Given the description of an element on the screen output the (x, y) to click on. 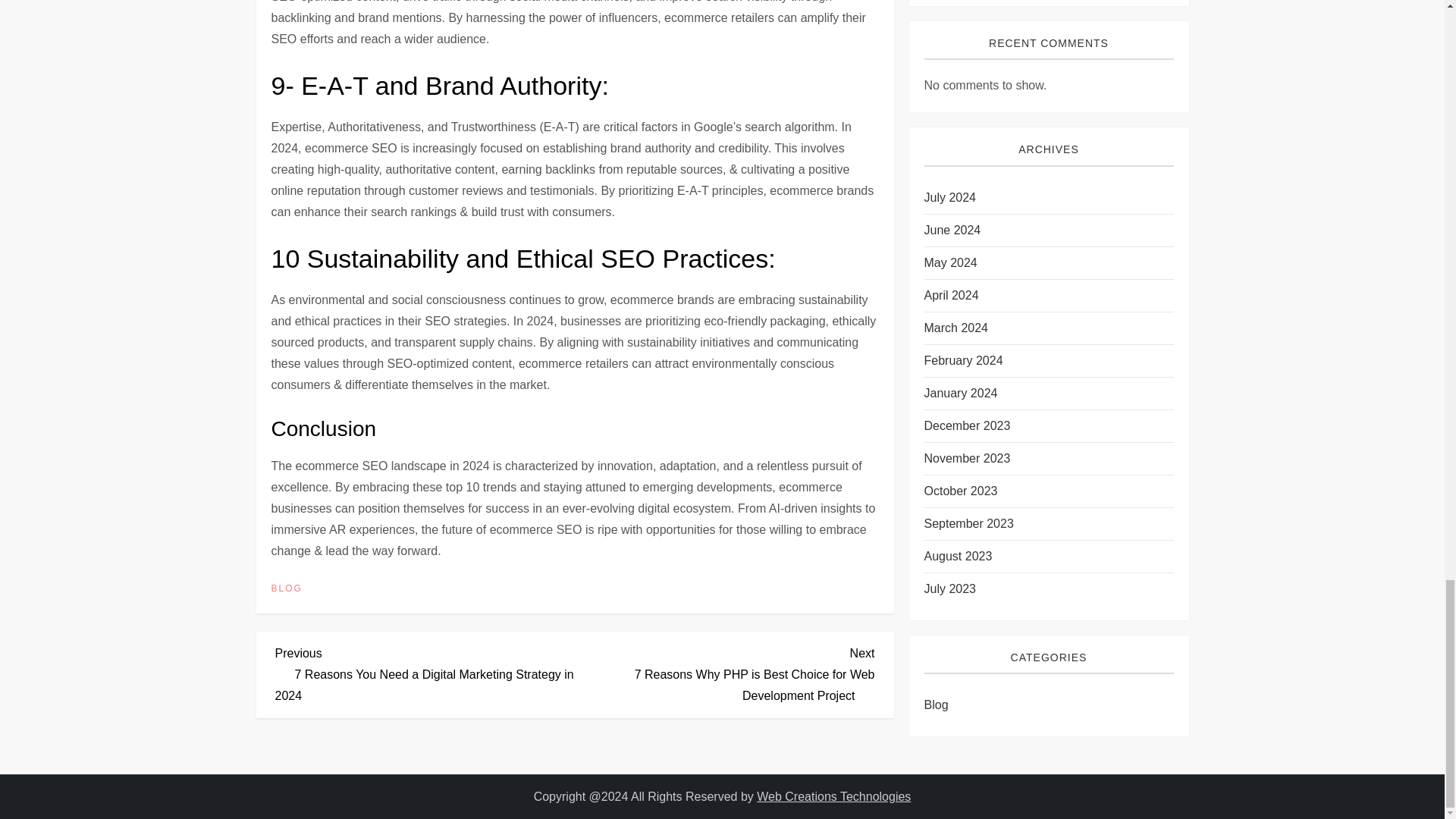
BLOG (286, 589)
